Given the description of an element on the screen output the (x, y) to click on. 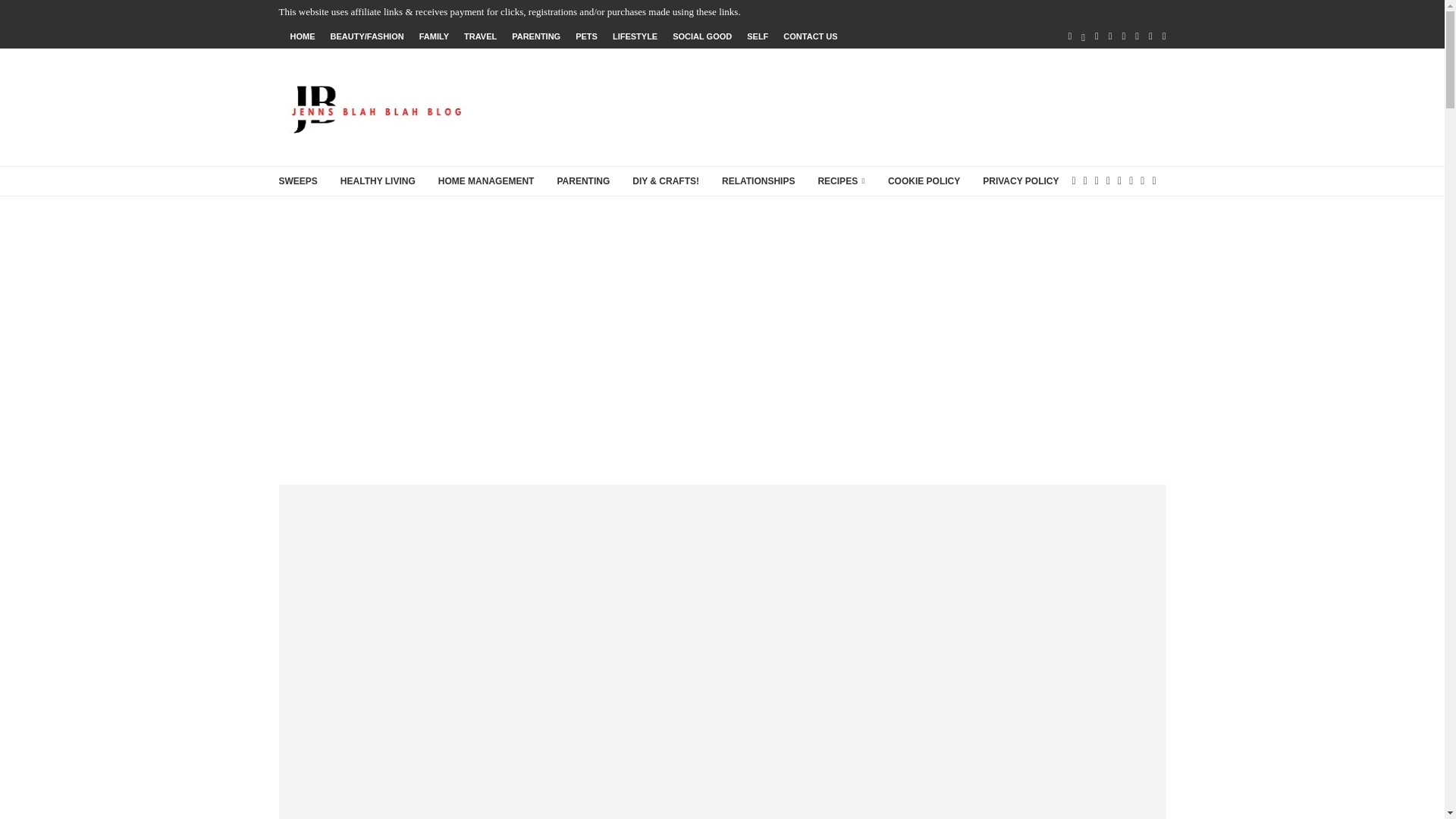
SOCIAL GOOD (702, 36)
HEALTHY LIVING (377, 181)
SWEEPS (298, 181)
RELATIONSHIPS (758, 181)
PARENTING (583, 181)
LIFESTYLE (635, 36)
PETS (585, 36)
RECIPES (840, 181)
HOME (301, 36)
PARENTING (536, 36)
